Given the description of an element on the screen output the (x, y) to click on. 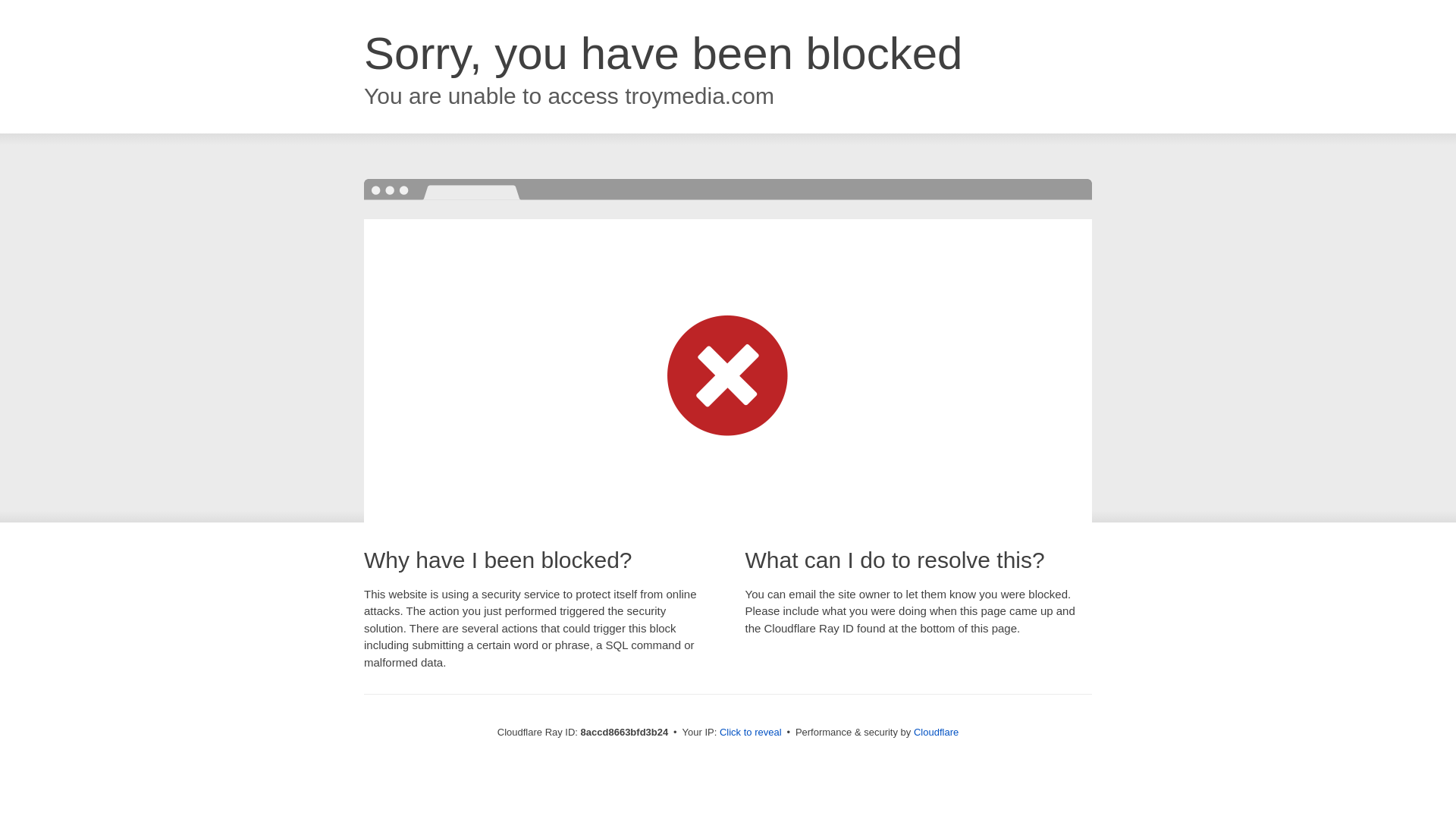
Cloudflare (936, 731)
Click to reveal (750, 732)
